Given the description of an element on the screen output the (x, y) to click on. 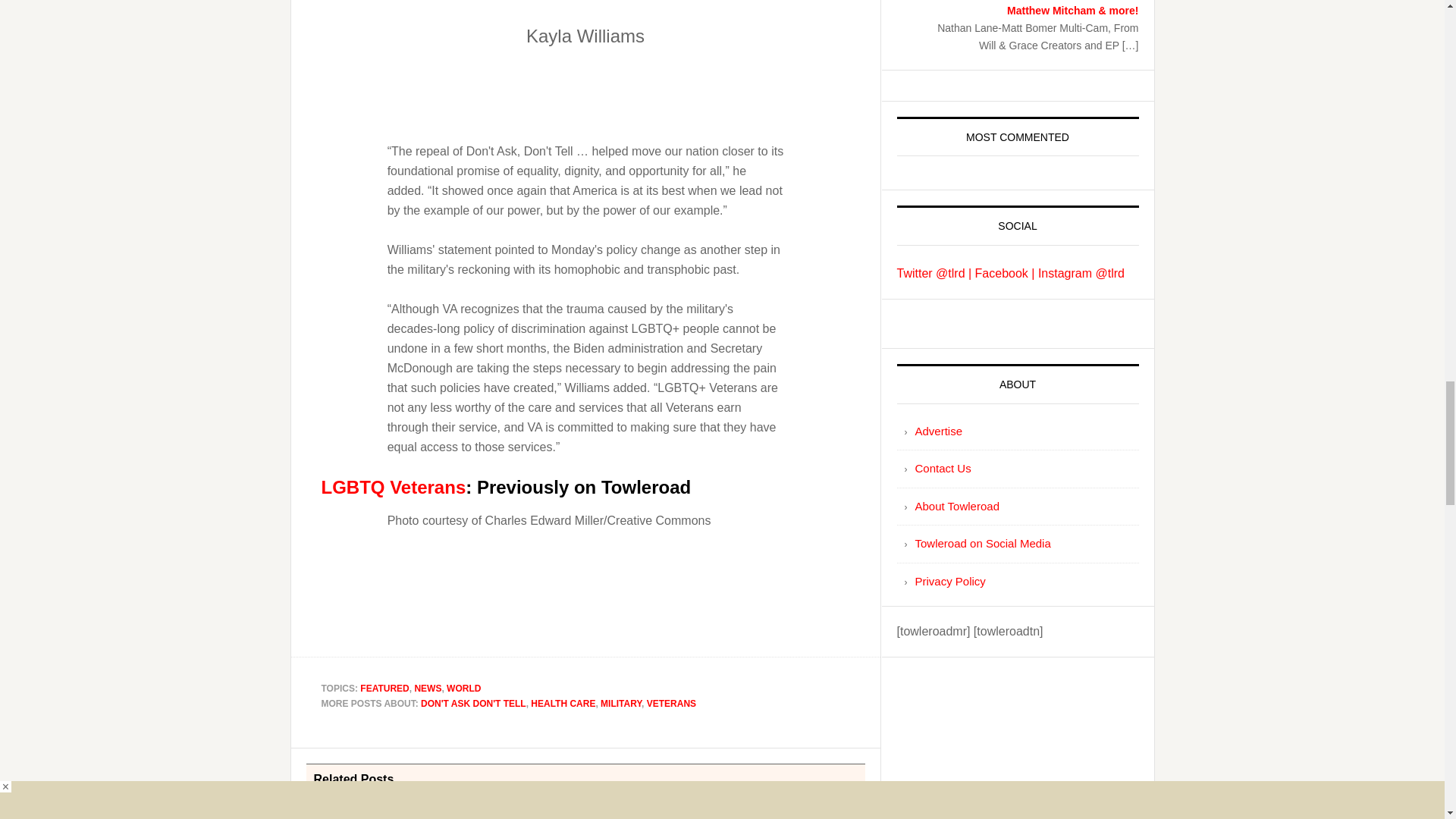
NEWS (427, 688)
FEATURED (384, 688)
LGBTQ Veterans (393, 486)
